Given the description of an element on the screen output the (x, y) to click on. 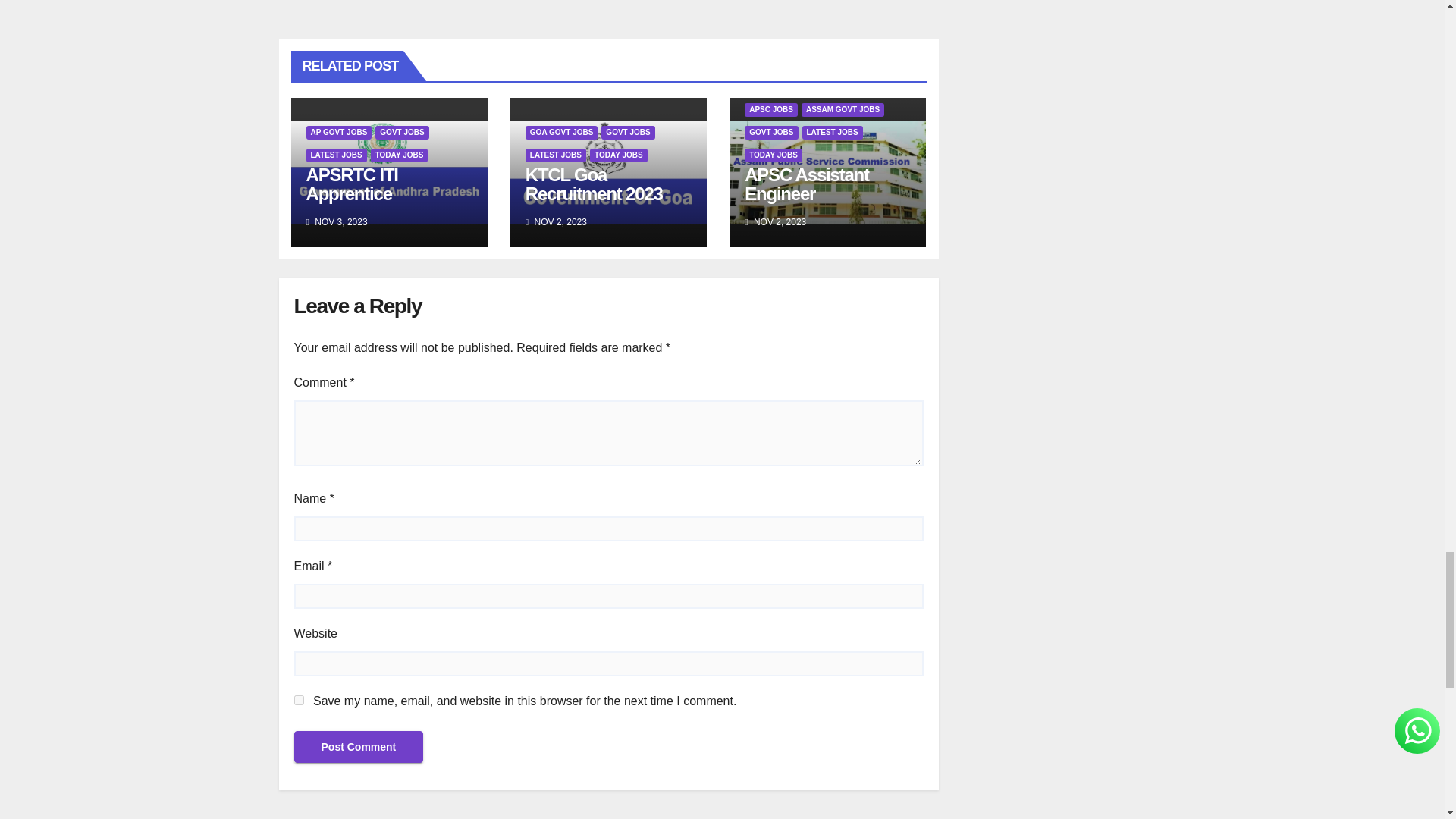
yes (299, 700)
Post Comment (358, 746)
